Given the description of an element on the screen output the (x, y) to click on. 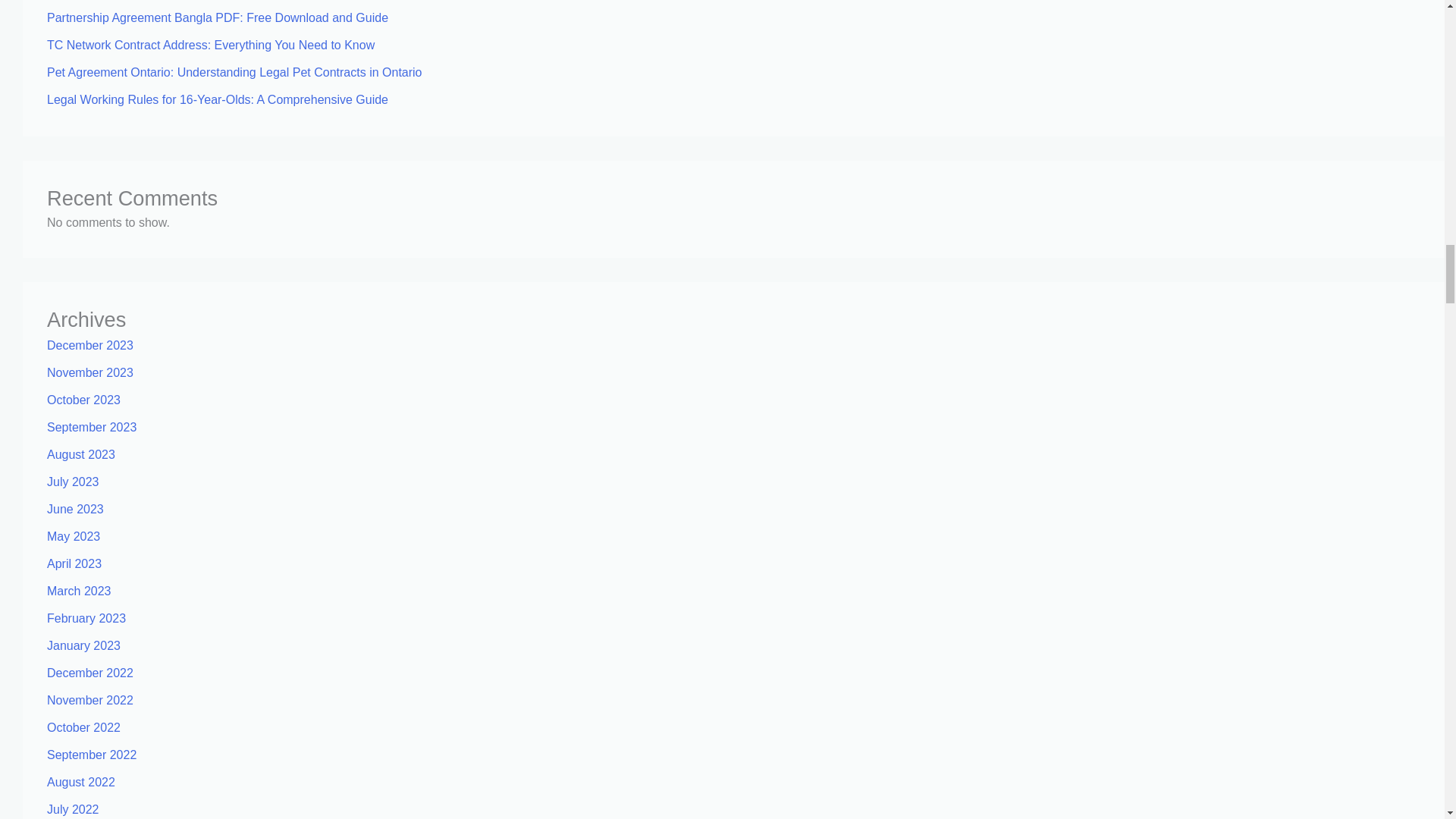
April 2023 (73, 563)
September 2023 (91, 427)
October 2023 (83, 399)
March 2023 (79, 590)
TC Network Contract Address: Everything You Need to Know (210, 44)
November 2023 (89, 372)
June 2023 (74, 508)
Partnership Agreement Bangla PDF: Free Download and Guide (217, 17)
July 2022 (72, 809)
December 2022 (89, 672)
August 2022 (80, 781)
November 2022 (89, 699)
December 2023 (89, 345)
Legal Working Rules for 16-Year-Olds: A Comprehensive Guide (217, 99)
